Given the description of an element on the screen output the (x, y) to click on. 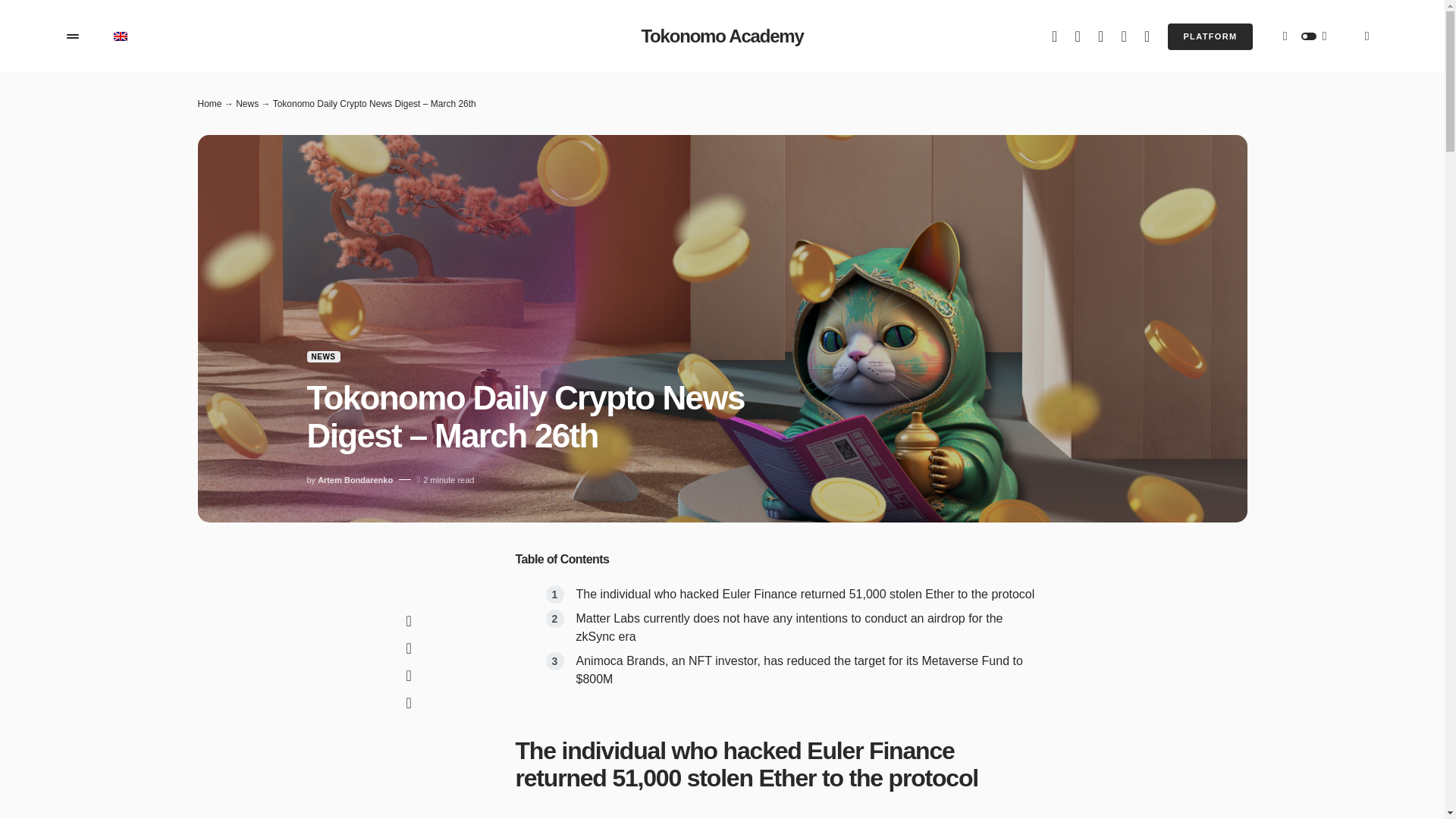
Tokonomo Academy (721, 35)
View all posts by Artem Bondarenko (355, 480)
